Given the description of an element on the screen output the (x, y) to click on. 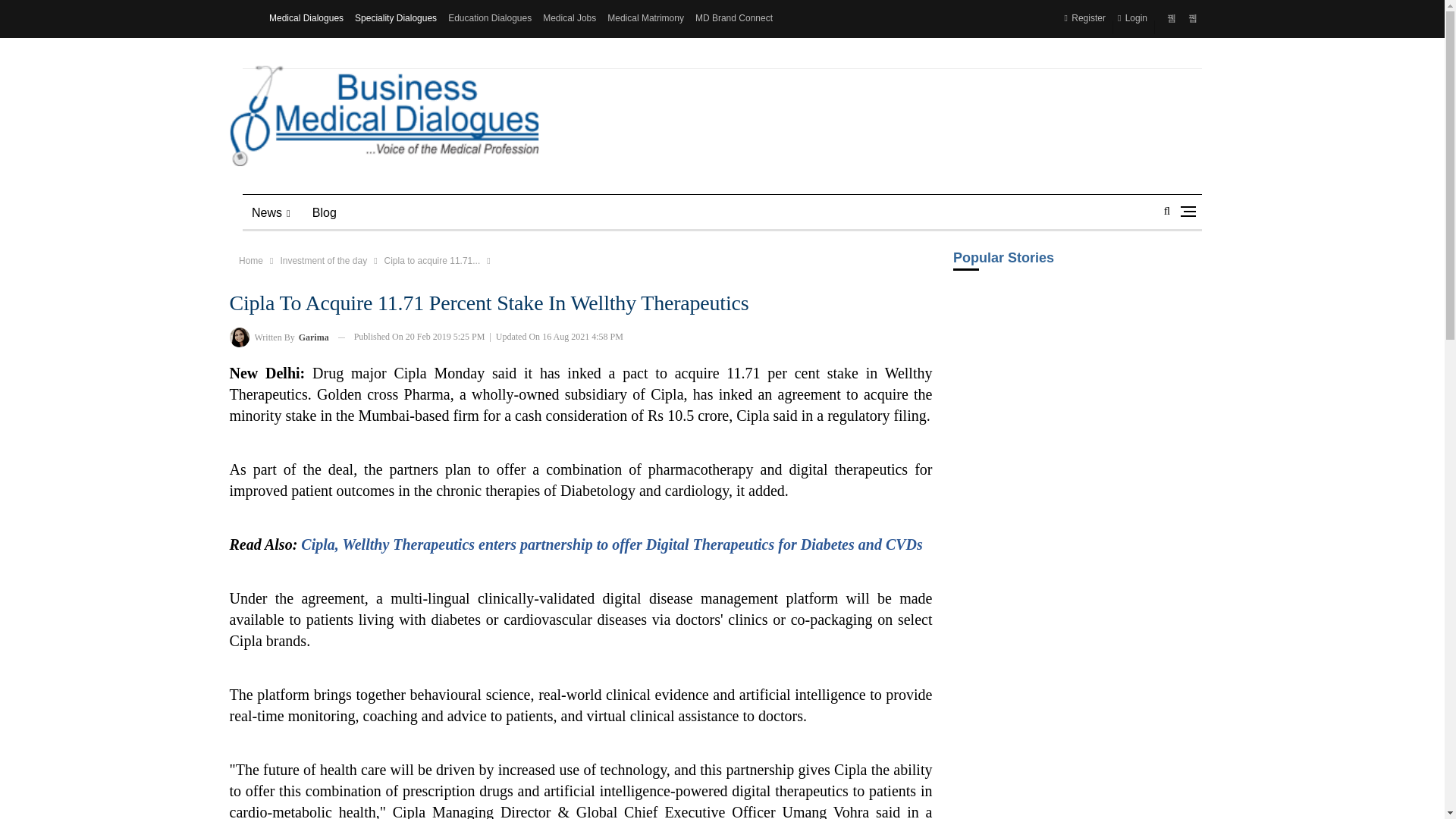
Medical Jobs (569, 18)
Business Medical Dialogues (384, 116)
Education Dialogues (489, 18)
Garima (238, 337)
Medical Matrimony (645, 18)
Speciality Dialogues (395, 18)
News (271, 212)
Popular Stories (1077, 268)
Medical Dialogues (306, 18)
